Given the description of an element on the screen output the (x, y) to click on. 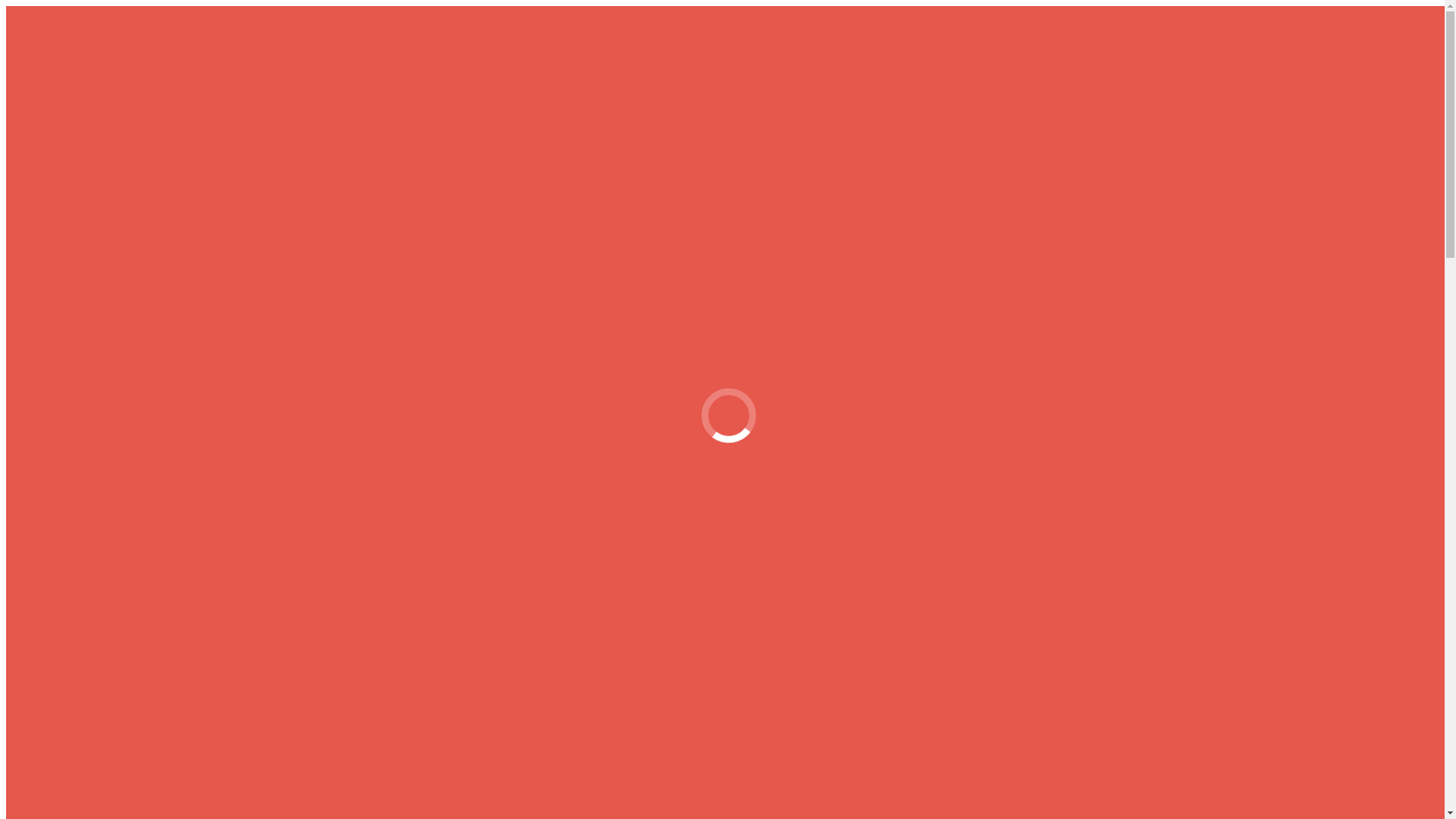
Mantel to Marble Effect Element type: text (155, 363)
Stone Faux Finish Element type: text (110, 322)
Portfolio Element type: text (87, 215)
About Element type: text (51, 432)
Drywall to Stone Effect Element type: text (154, 174)
Faux Finish Effects Element type: text (83, 295)
Home Element type: text (50, 65)
Porch Stone Effect Element type: text (142, 201)
Drywall to Stone Effect Element type: text (154, 377)
Before & After Element type: text (103, 133)
Faux Finish Options Element type: text (146, 391)
Faux Finish Painting Element type: text (116, 309)
Brick to Marble Effect Element type: text (152, 147)
Portfolio Element type: text (87, 418)
Faux Finish Painting Element type: text (116, 106)
Home Element type: text (50, 533)
Faux Finish Effects Element type: text (83, 92)
Faux Finish Options Element type: text (146, 188)
Home Painting Element type: text (72, 282)
About Element type: text (51, 228)
Contact Element type: text (55, 242)
Mantel to Marble Effect Element type: text (155, 160)
Porch Stone Effect Element type: text (142, 404)
Contact Element type: text (55, 445)
Before & After Element type: text (103, 336)
Home Painting Element type: text (72, 78)
Stone Faux Finish Element type: text (110, 119)
Brick to Marble Effect Element type: text (152, 350)
Skip to content Element type: text (5, 5)
Home Element type: text (50, 268)
